Given the description of an element on the screen output the (x, y) to click on. 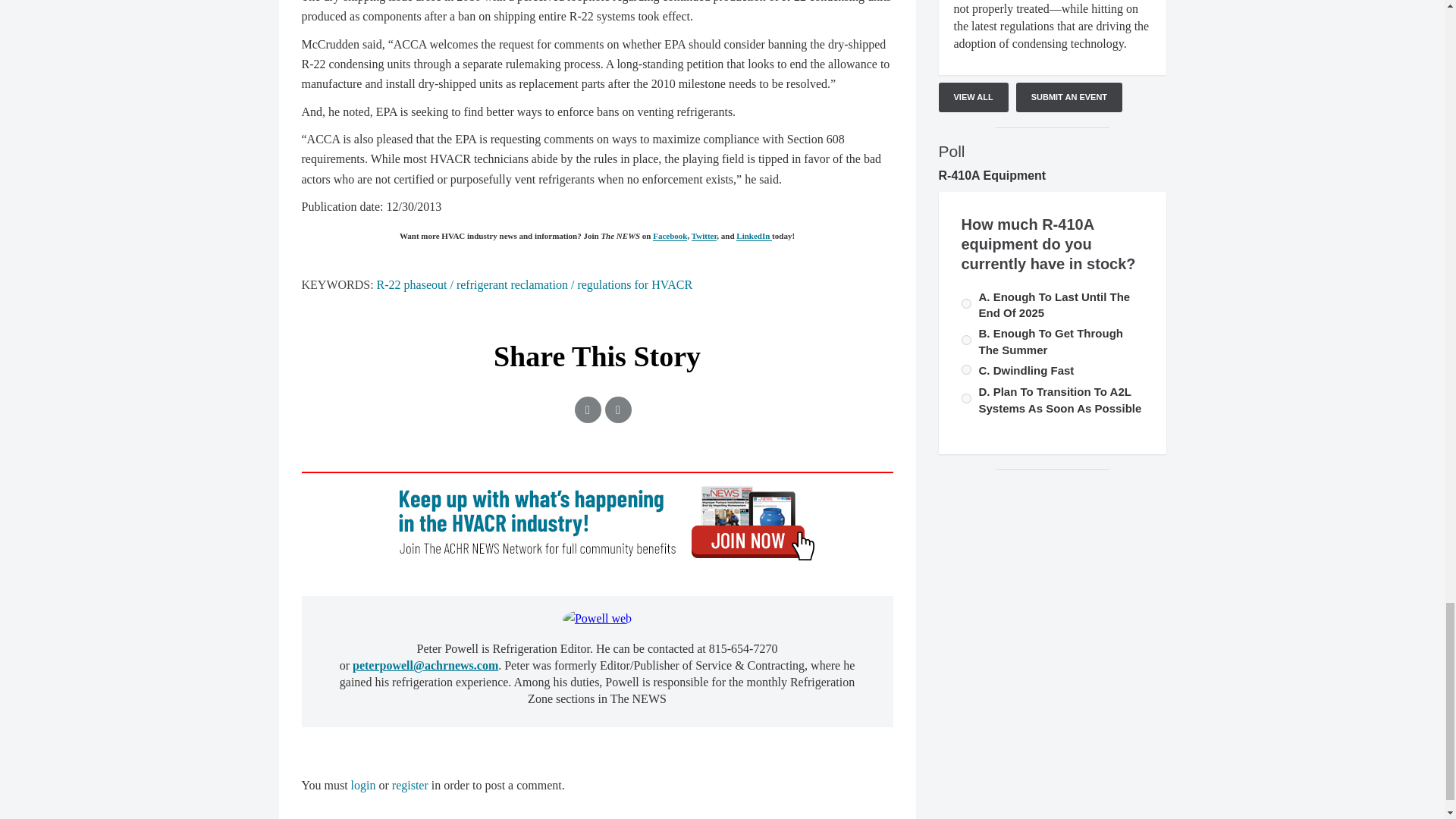
596 (965, 339)
598 (965, 369)
599 (965, 398)
597 (965, 303)
